Given the description of an element on the screen output the (x, y) to click on. 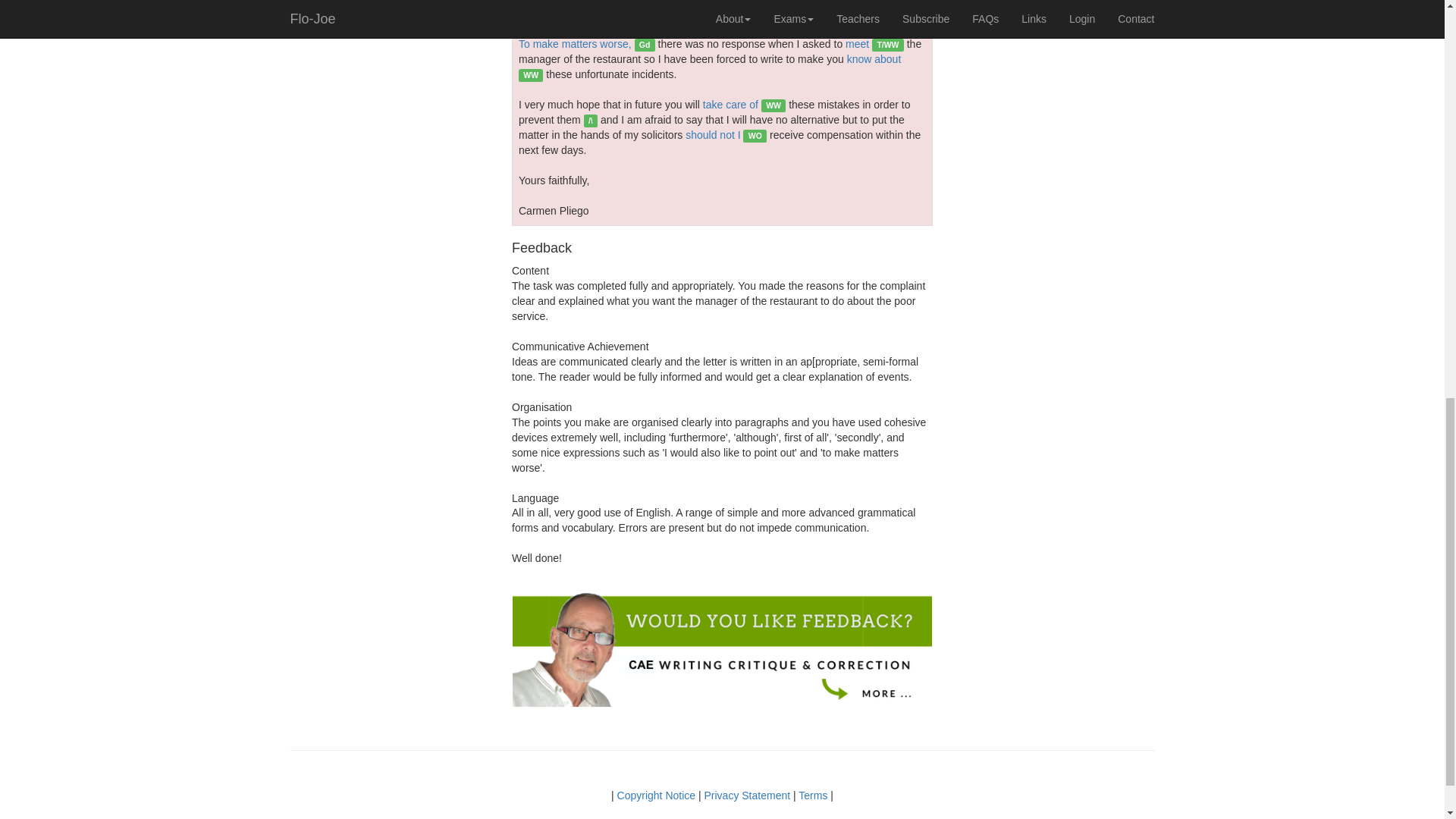
To make matters worse, Gd (586, 43)
know about WW (709, 66)
spilled WW (547, 2)
